Given the description of an element on the screen output the (x, y) to click on. 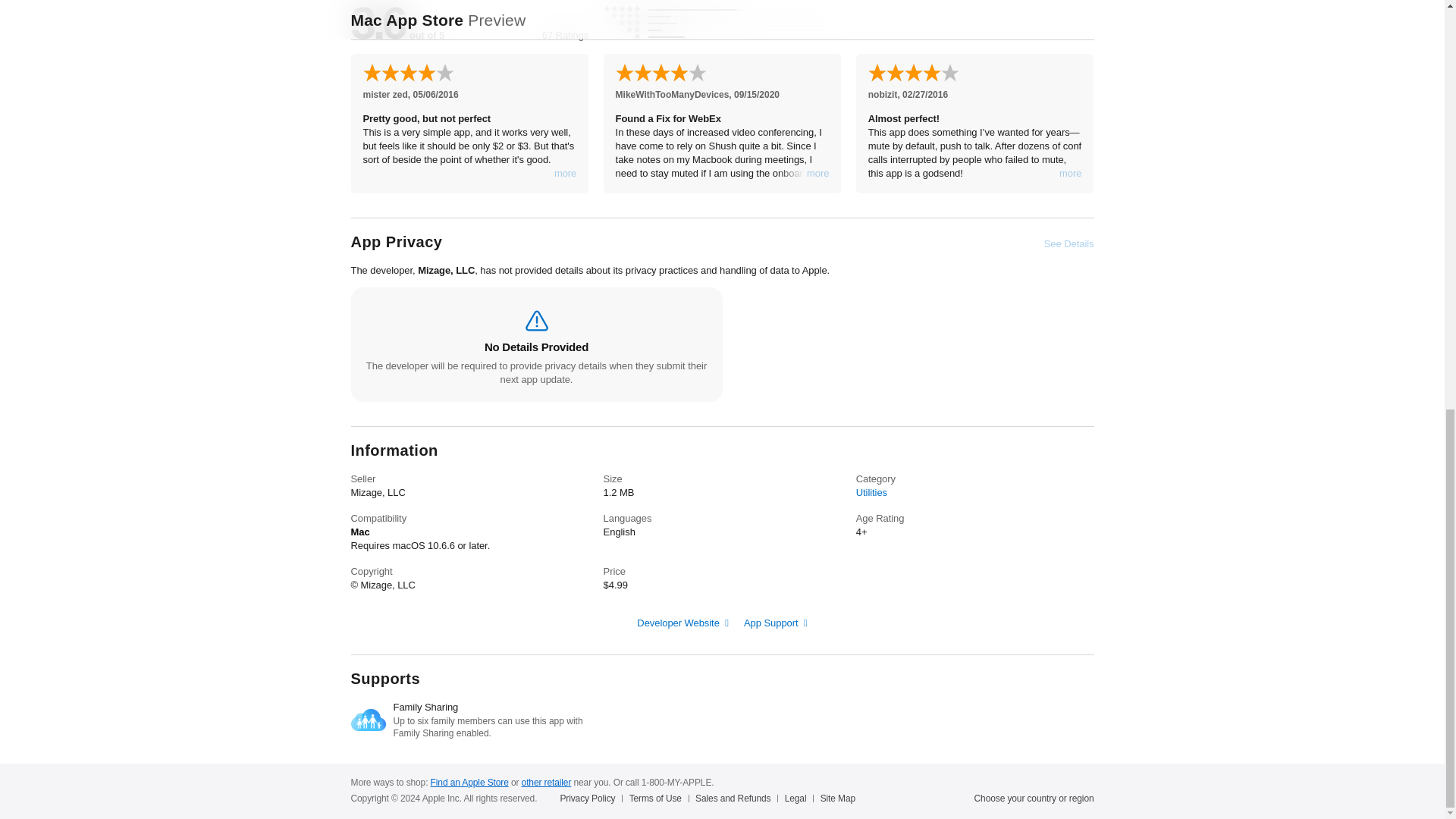
Sales and Refunds (736, 798)
more (1070, 173)
See Details (1068, 243)
Developer Website (683, 622)
App Support (776, 622)
Site Map (841, 798)
more (565, 173)
Terms of Use (658, 798)
Find an Apple Store (469, 782)
more (817, 173)
Utilities (871, 491)
Legal (798, 798)
other retailer (546, 782)
Choose your country or region (1034, 798)
Choose your country or region (1034, 798)
